Given the description of an element on the screen output the (x, y) to click on. 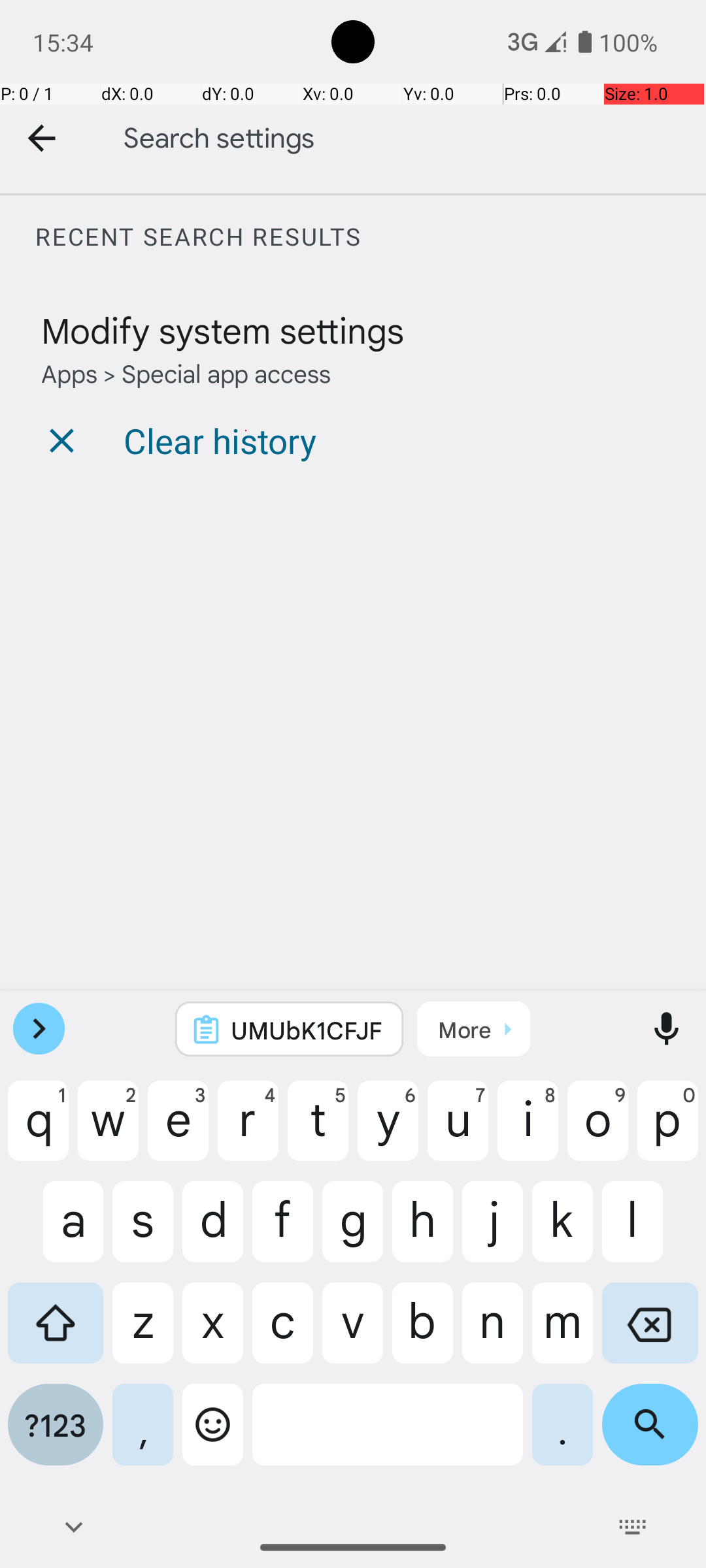
RECENT SEARCH RESULTS Element type: android.widget.TextView (370, 236)
Modify system settings Element type: android.widget.TextView (222, 329)
Apps > Special app access Element type: android.widget.TextView (185, 372)
Clear history Element type: android.widget.TextView (219, 440)
